Given the description of an element on the screen output the (x, y) to click on. 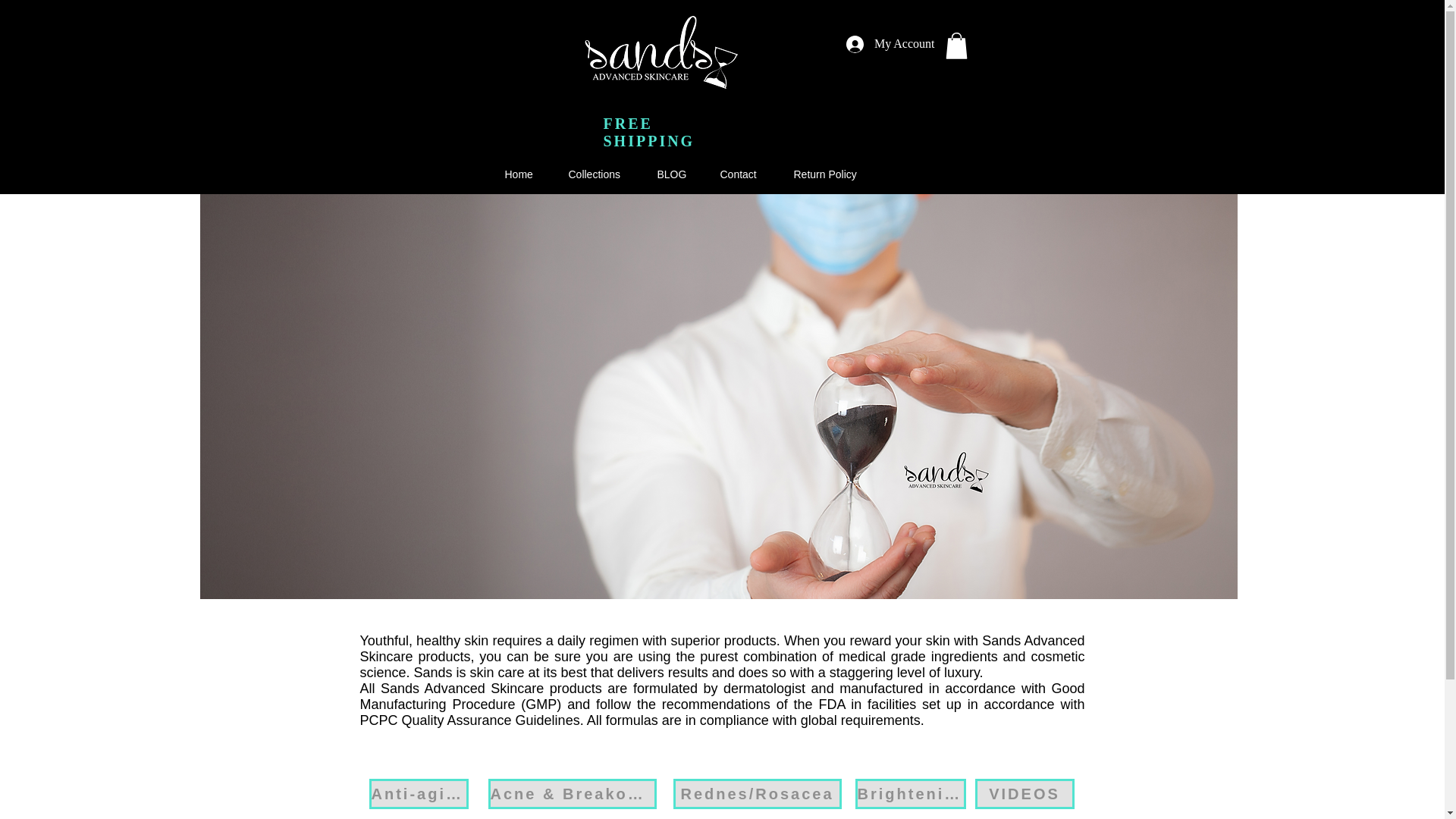
Home (516, 174)
VIDEOS (1024, 793)
Anti-aging (417, 793)
Sands Advanced Skincare (661, 52)
Collections (592, 174)
Contact (737, 174)
BLOG (670, 174)
Brightening (911, 793)
Return Policy (824, 174)
My Account (889, 43)
